Given the description of an element on the screen output the (x, y) to click on. 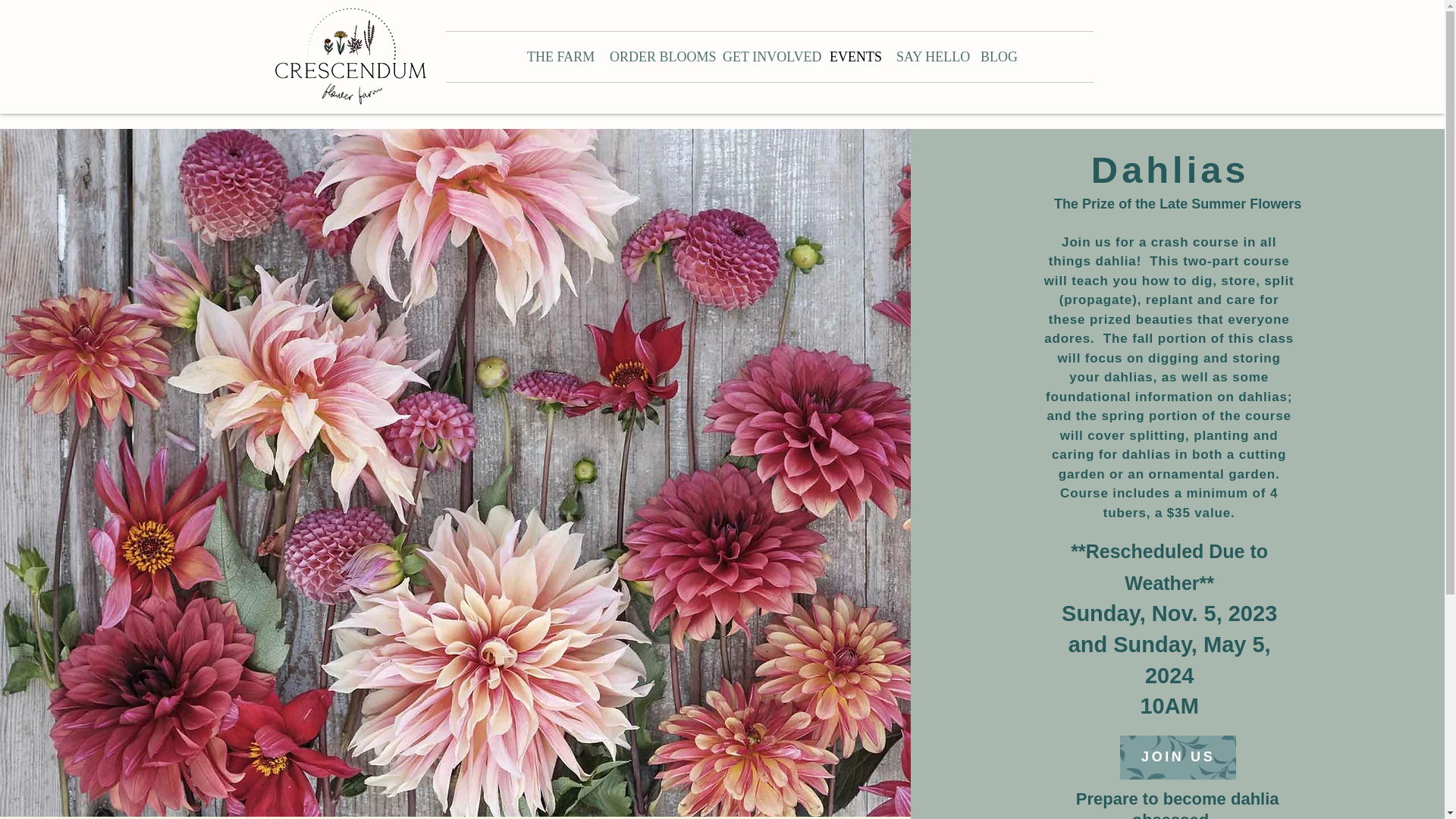
SAY HELLO (927, 56)
EVENTS (851, 56)
JOIN US (1177, 757)
BLOG (996, 56)
ORDER BLOOMS (654, 56)
THE FARM (556, 56)
GET INVOLVED (764, 56)
